Given the description of an element on the screen output the (x, y) to click on. 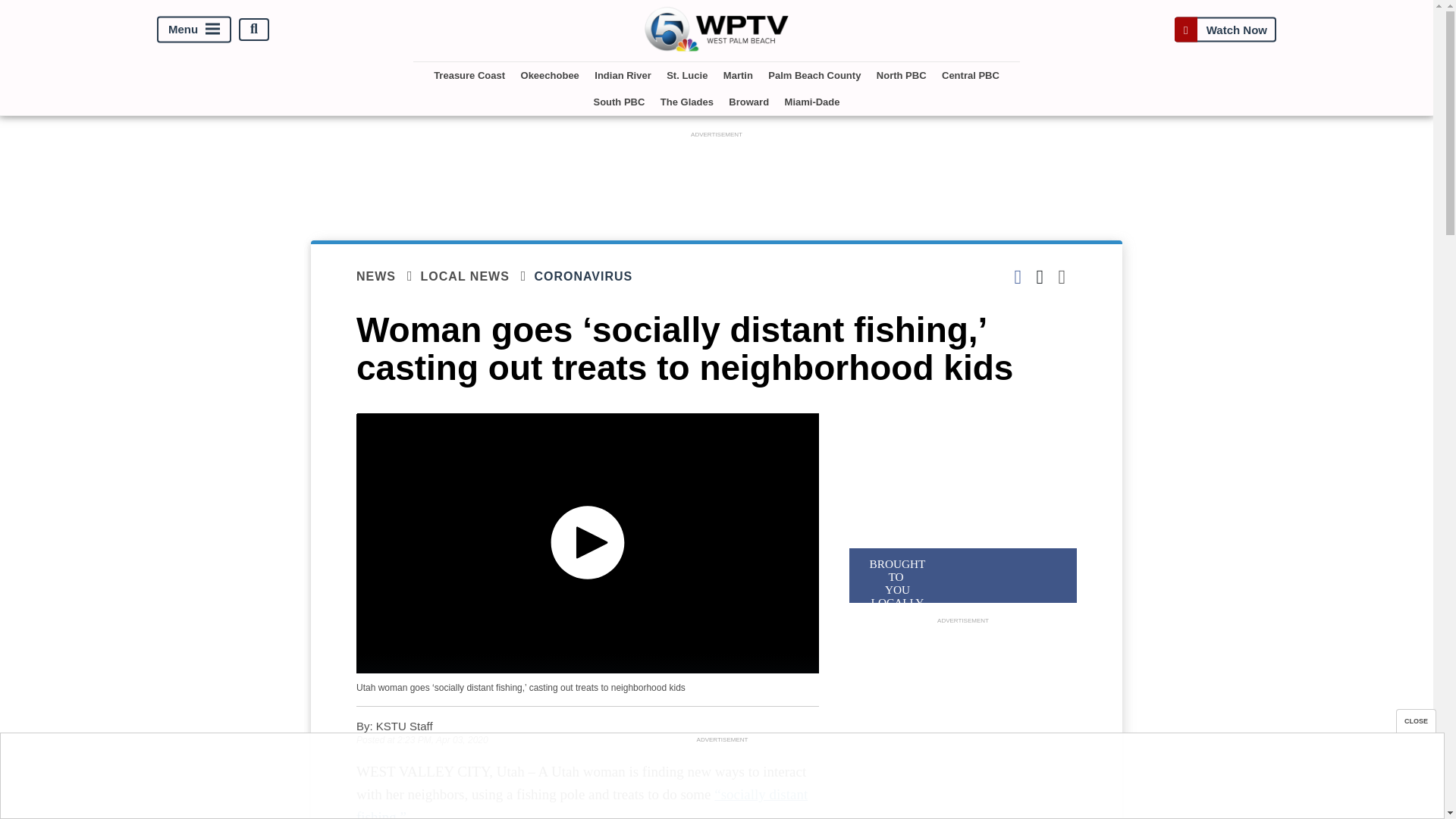
Watch Now (1224, 29)
3rd party ad content (721, 780)
3rd party ad content (962, 722)
Menu (194, 28)
3rd party ad content (716, 175)
